Given the description of an element on the screen output the (x, y) to click on. 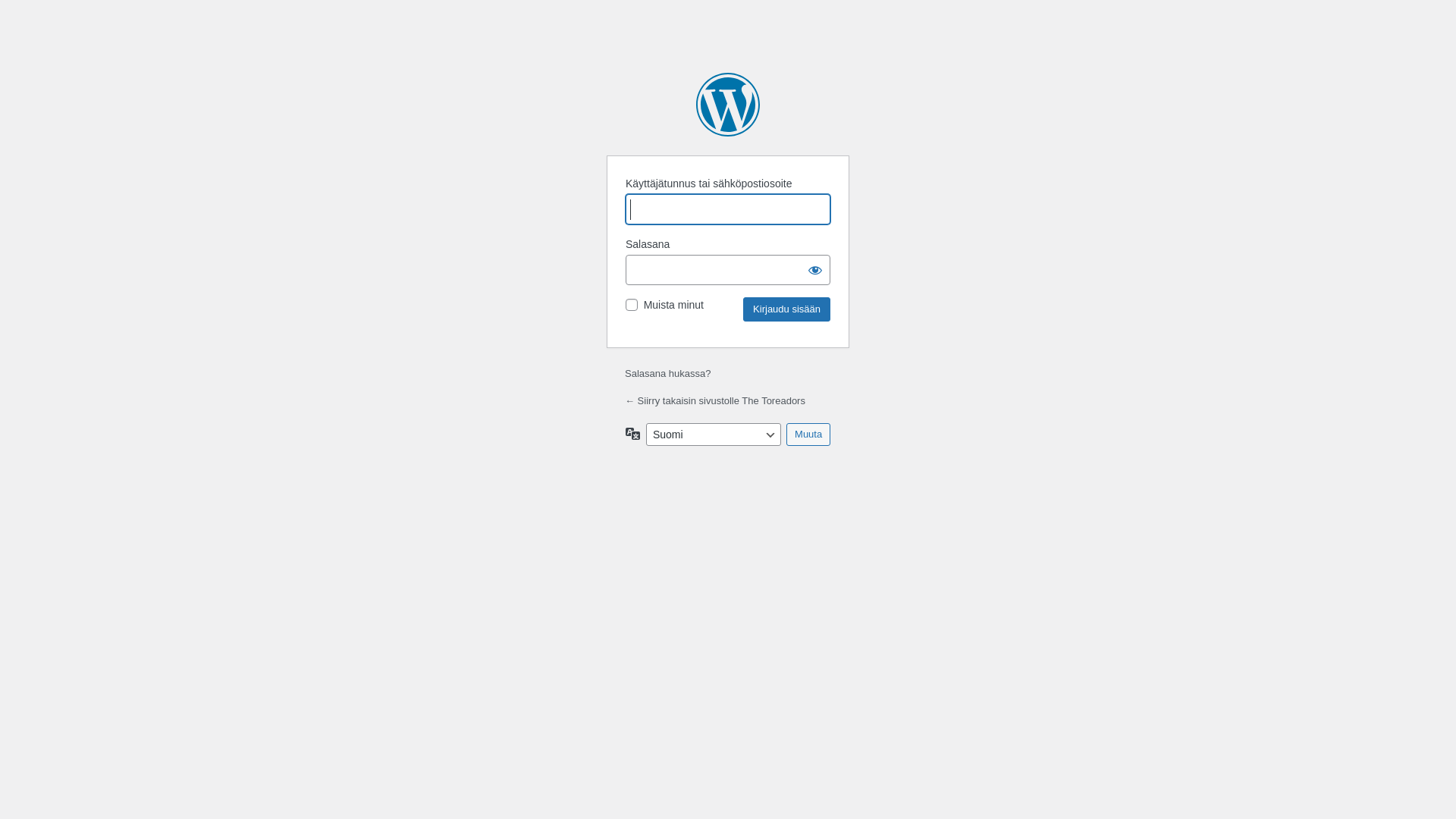
Muuta Element type: text (808, 434)
Salasana hukassa? Element type: text (667, 373)
Moottorina WordPress Element type: text (727, 104)
